Given the description of an element on the screen output the (x, y) to click on. 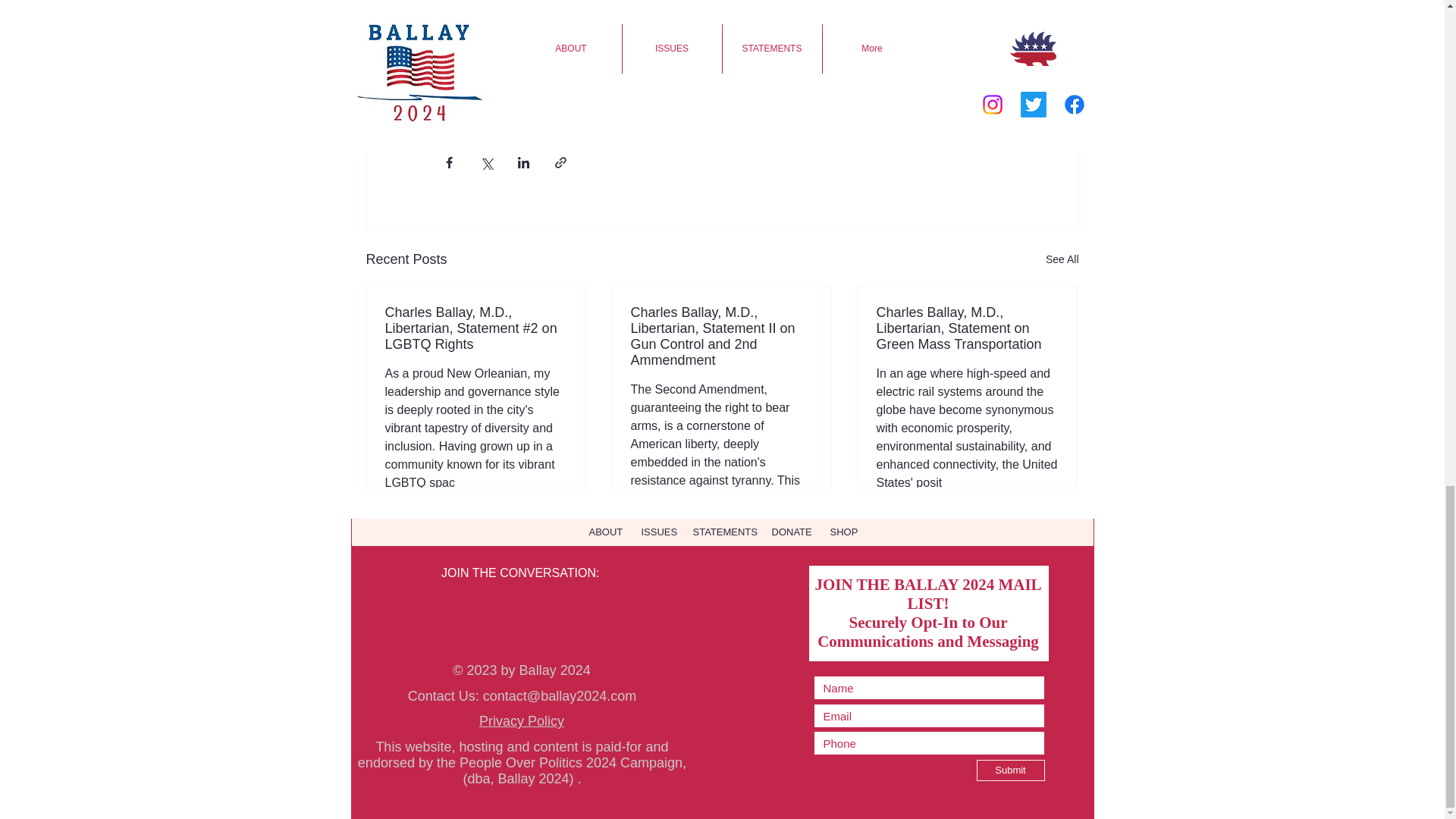
ISSUES (656, 532)
ABOUT (604, 532)
See All (1061, 259)
